Given the description of an element on the screen output the (x, y) to click on. 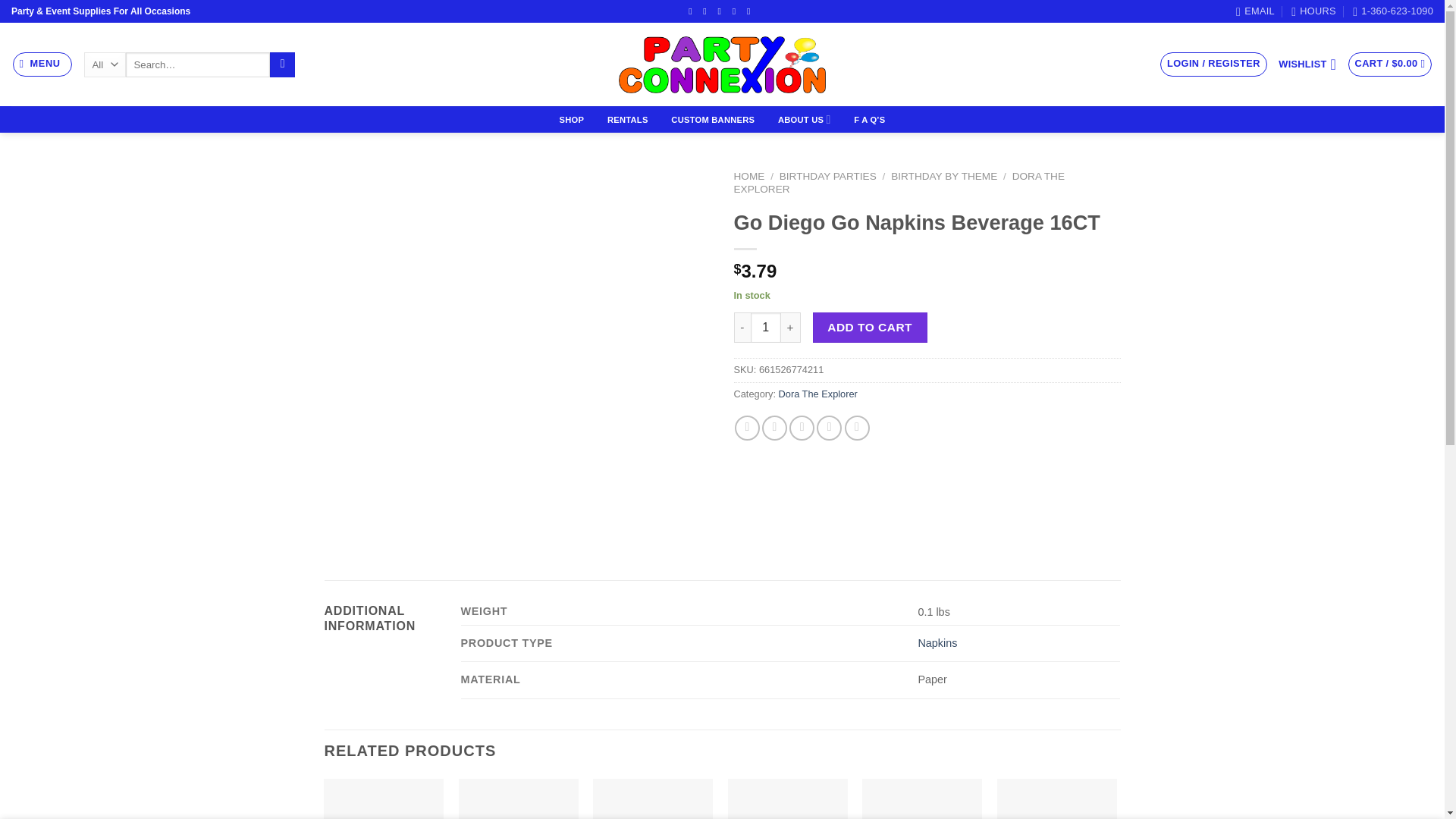
- (742, 327)
HOURS (1313, 11)
RENTALS (627, 119)
DORA THE EXPLORER (898, 182)
1 (765, 327)
Wishlist (1307, 64)
BIRTHDAY PARTIES (827, 175)
Login (1213, 64)
EMAIL (1255, 11)
Follow on Pinterest (750, 10)
1-360-623-1090 (1392, 11)
Follow on X (721, 10)
WISHLIST (1307, 64)
HOME (749, 175)
MENU (42, 64)
